Given the description of an element on the screen output the (x, y) to click on. 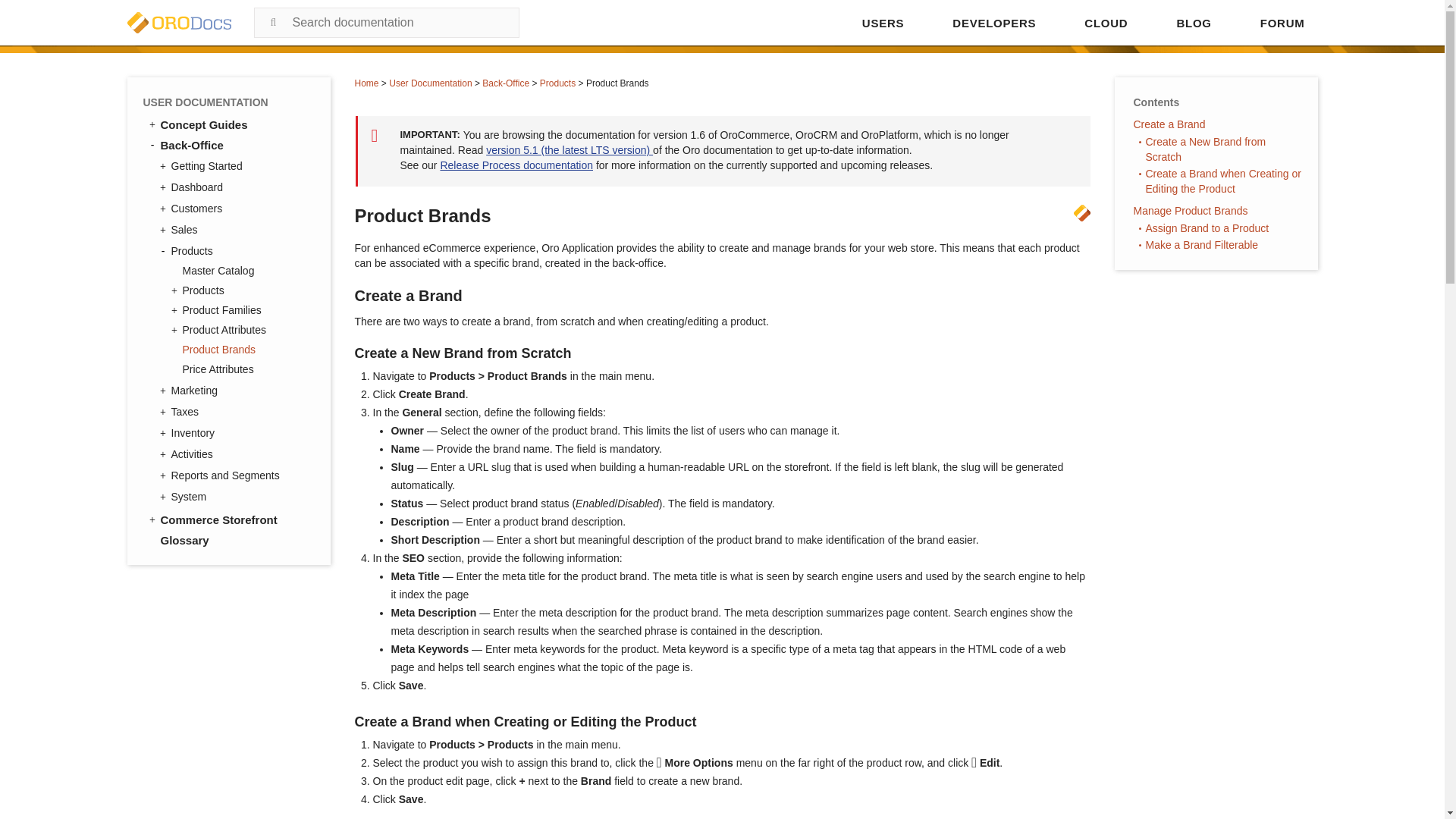
Home (366, 83)
Back-Office (505, 83)
USER DOCUMENTATION (227, 101)
User Documentation (429, 83)
USERS (883, 22)
Products (557, 83)
DEVELOPERS (993, 22)
CLOUD (1105, 22)
